Given the description of an element on the screen output the (x, y) to click on. 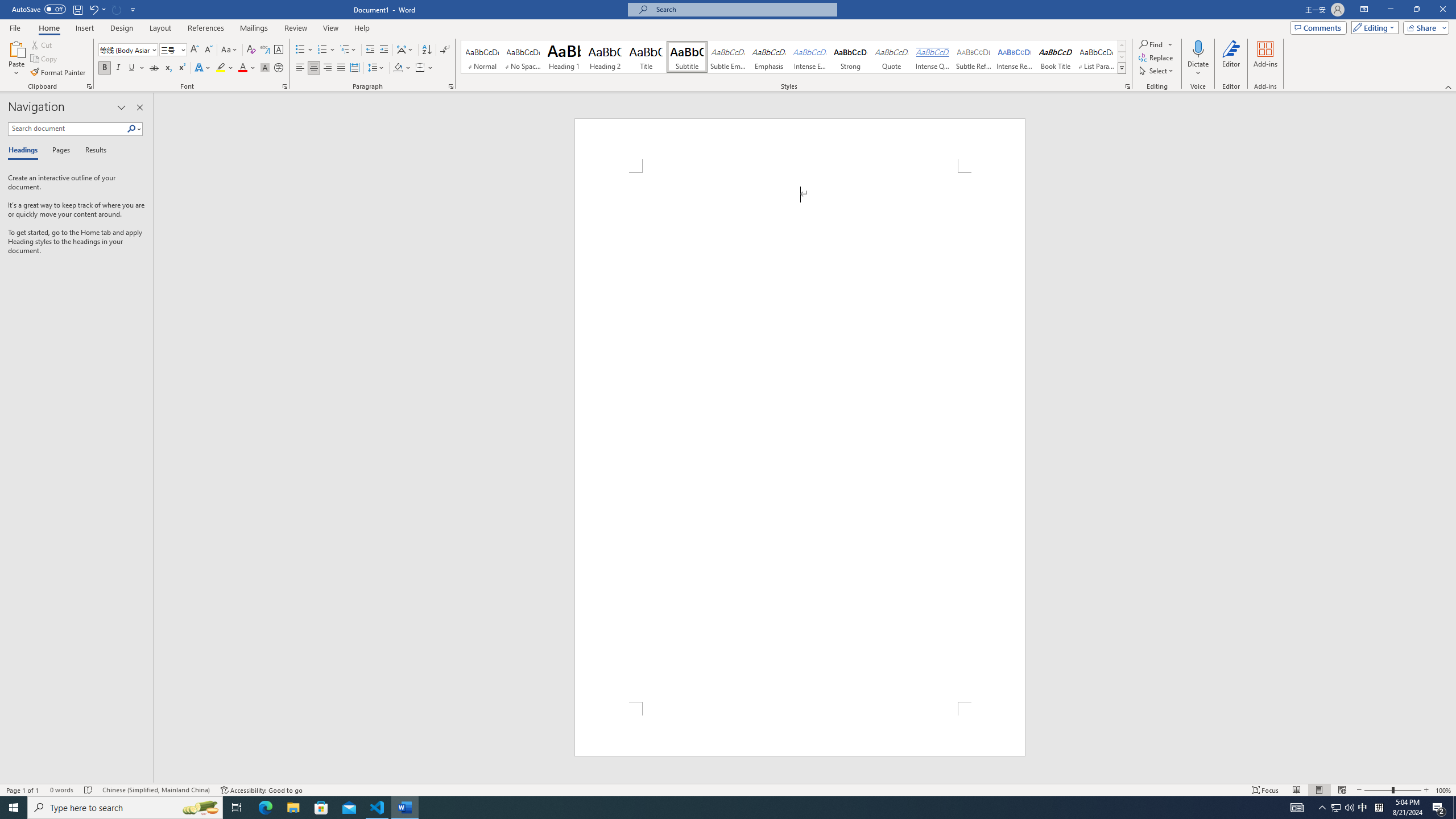
Strong (849, 56)
Intense Emphasis (809, 56)
